Given the description of an element on the screen output the (x, y) to click on. 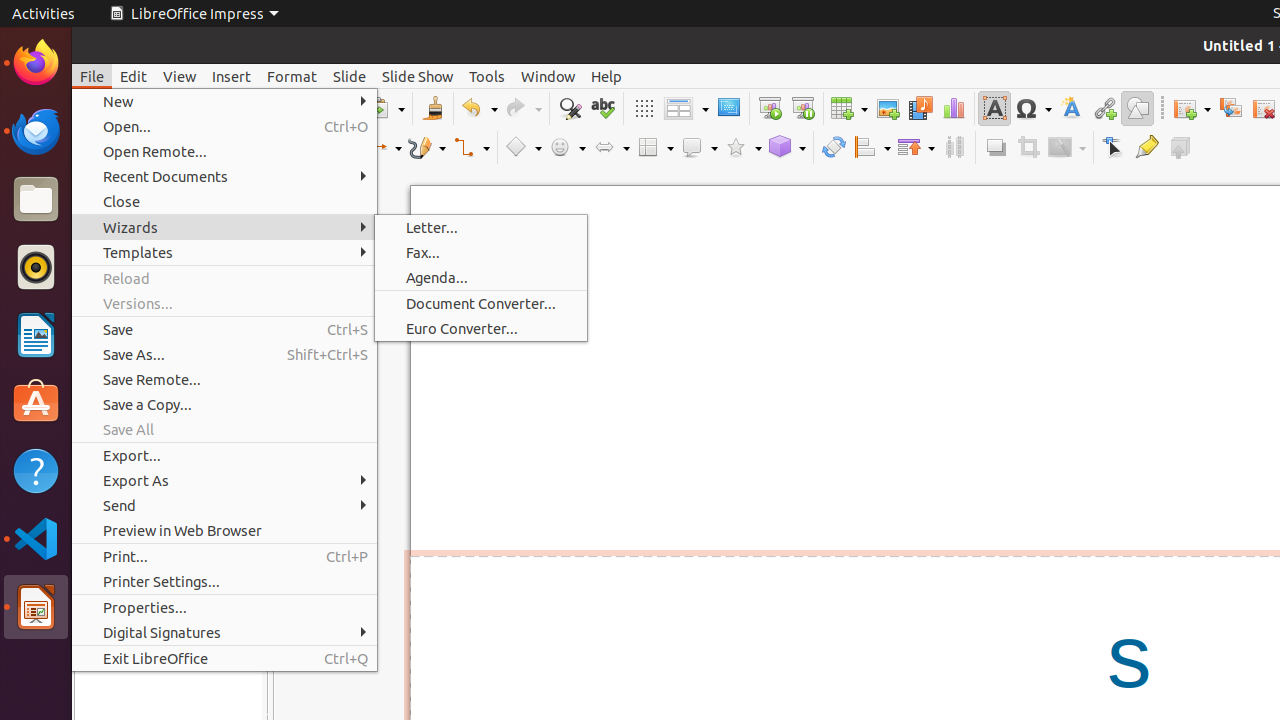
Print... Element type: menu-item (224, 556)
Save As... Element type: menu-item (224, 354)
Euro Converter... Element type: menu-item (481, 328)
Document Converter... Element type: menu-item (481, 303)
Wizards Element type: menu (224, 227)
